Given the description of an element on the screen output the (x, y) to click on. 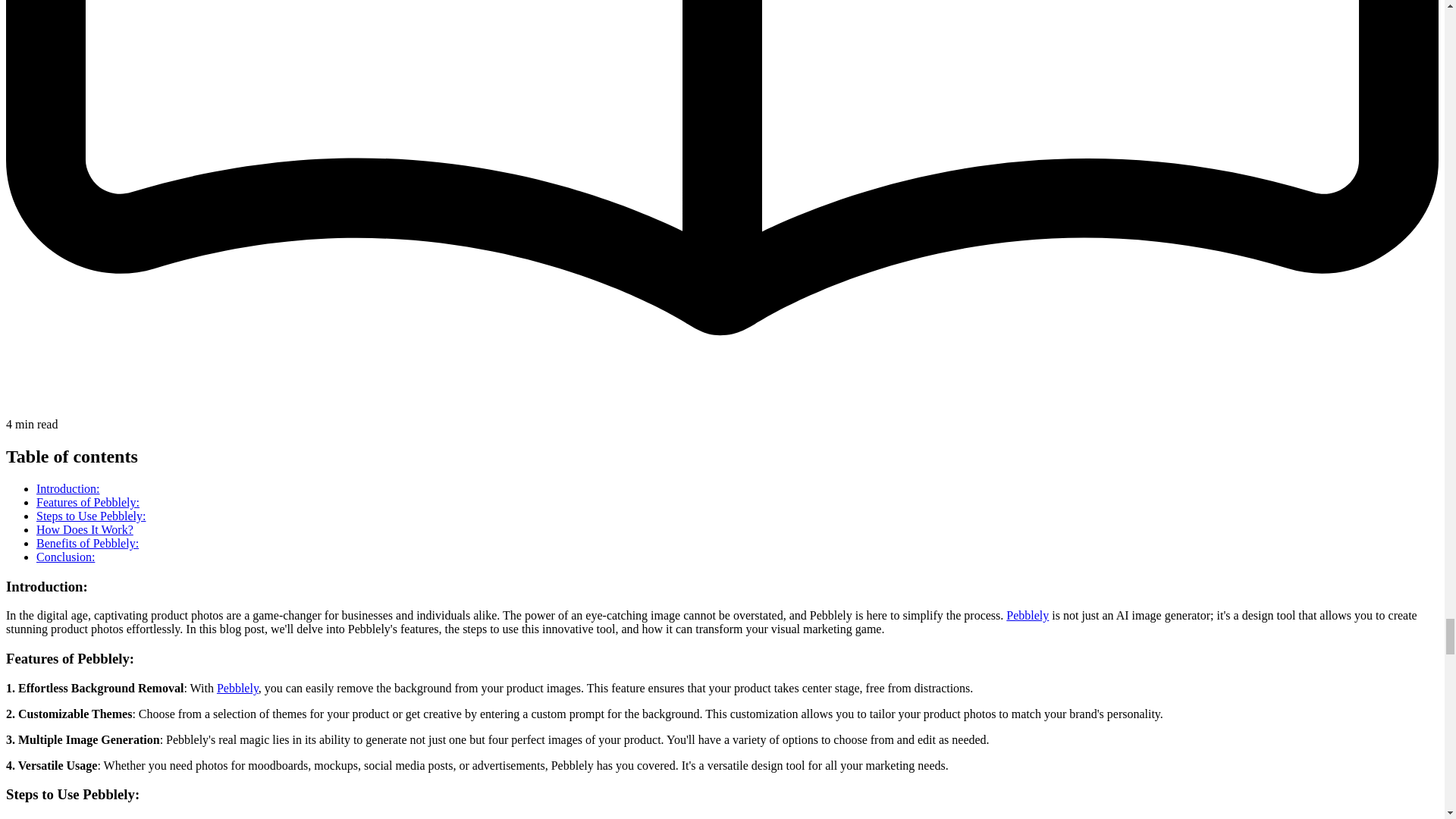
Pebblely (237, 687)
Pebblely (1027, 615)
